Given the description of an element on the screen output the (x, y) to click on. 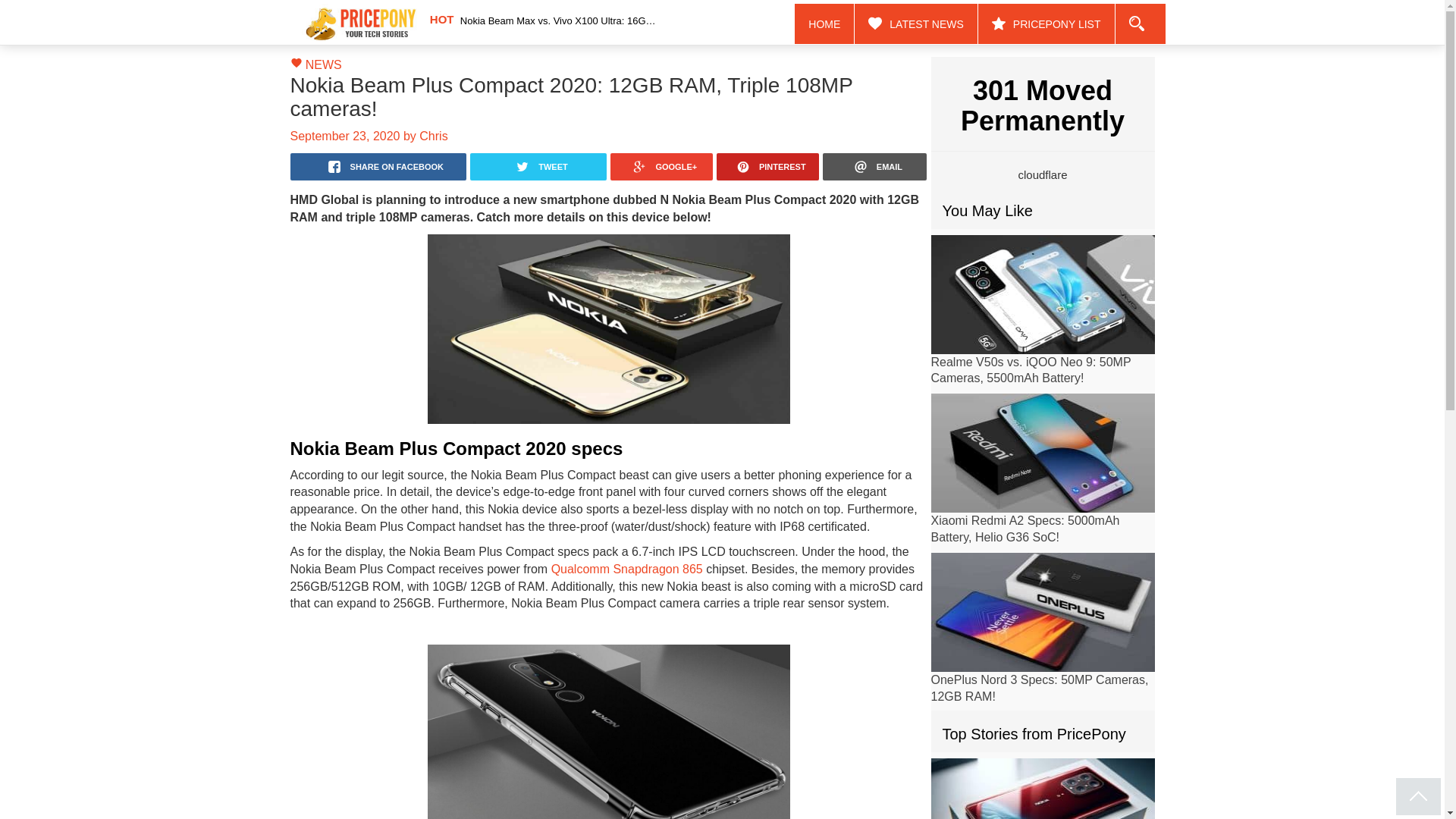
TWEET (538, 166)
NEWS (323, 64)
Xiaomi Redmi A2 Specs: 5000mAh Battery, Helio G36 SoC! (1025, 528)
Realme V50s vs. iQOO Neo 9: 50MP Cameras, 5500mAh Battery! (1031, 369)
email (874, 166)
HOME (824, 24)
twitter (538, 166)
Xiaomi Redmi A2 Specs: 5000mAh Battery, Helio G36 SoC! (1042, 452)
View all posts in News (323, 64)
SHARE ON FACEBOOK (377, 166)
PINTEREST (767, 166)
Xiaomi Redmi A2 Specs: 5000mAh Battery, Helio G36 SoC! (1025, 528)
Realme V50s vs. iQOO Neo 9: 50MP Cameras, 5500mAh Battery! (1031, 369)
facebook (377, 166)
